Given the description of an element on the screen output the (x, y) to click on. 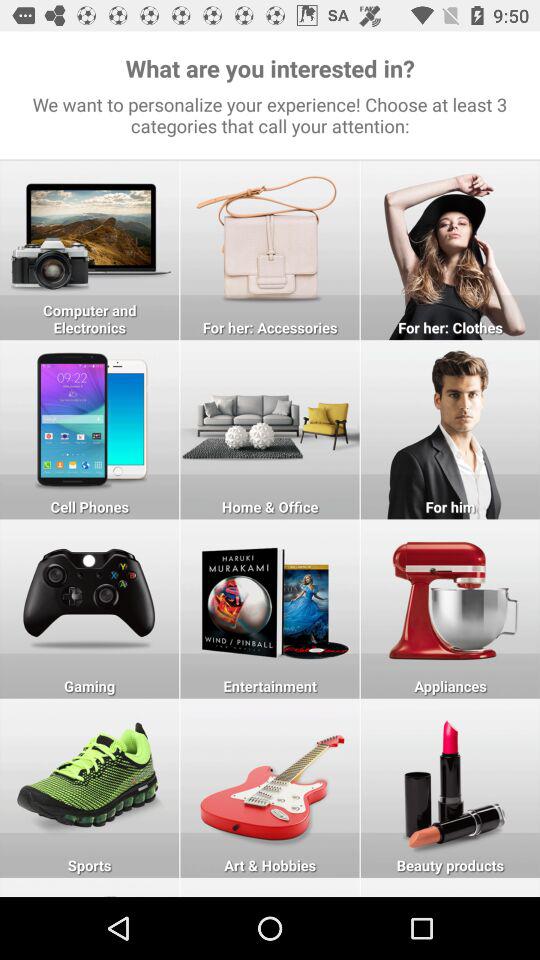
select cell phones as interest (89, 429)
